Given the description of an element on the screen output the (x, y) to click on. 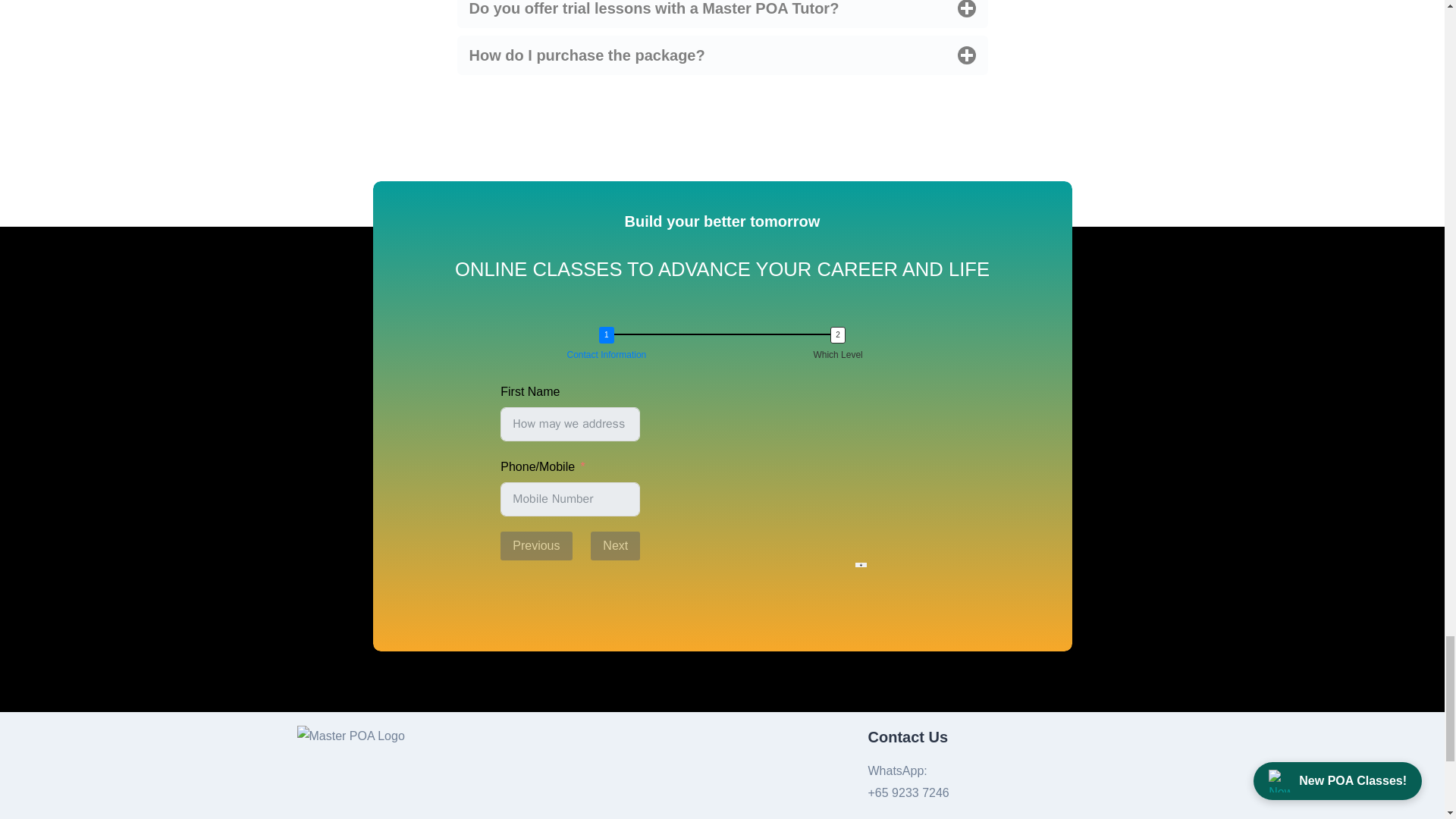
Blended Learning - combination of portal access and consult (505, 716)
Unsure - please advise (505, 786)
1:1 Online Tuition with MPOA Instructor (505, 622)
Self-pace, Self-directed access to MPOA Portal (505, 669)
